Given the description of an element on the screen output the (x, y) to click on. 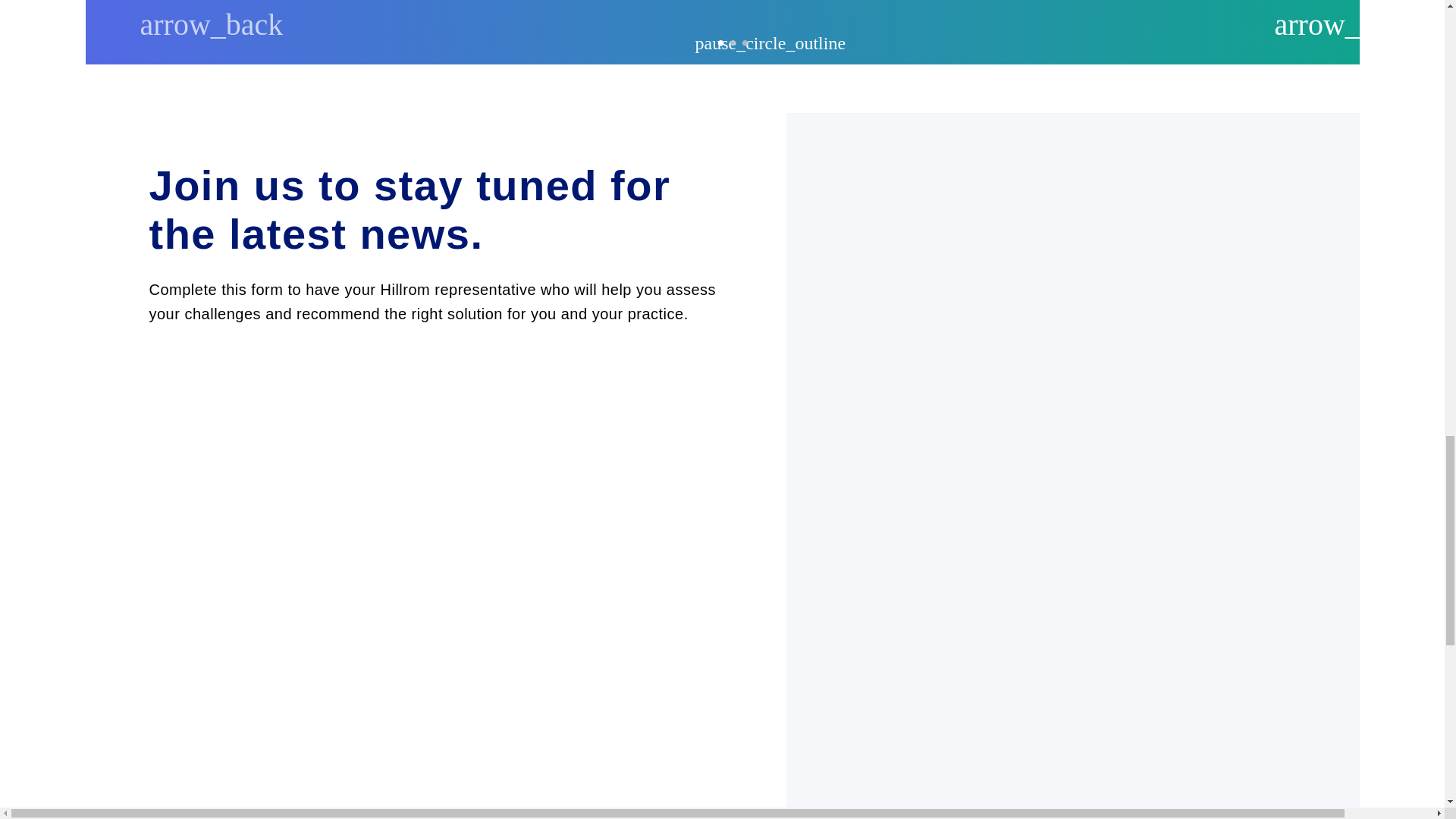
1 (720, 43)
3 (744, 43)
2 (732, 43)
